Given the description of an element on the screen output the (x, y) to click on. 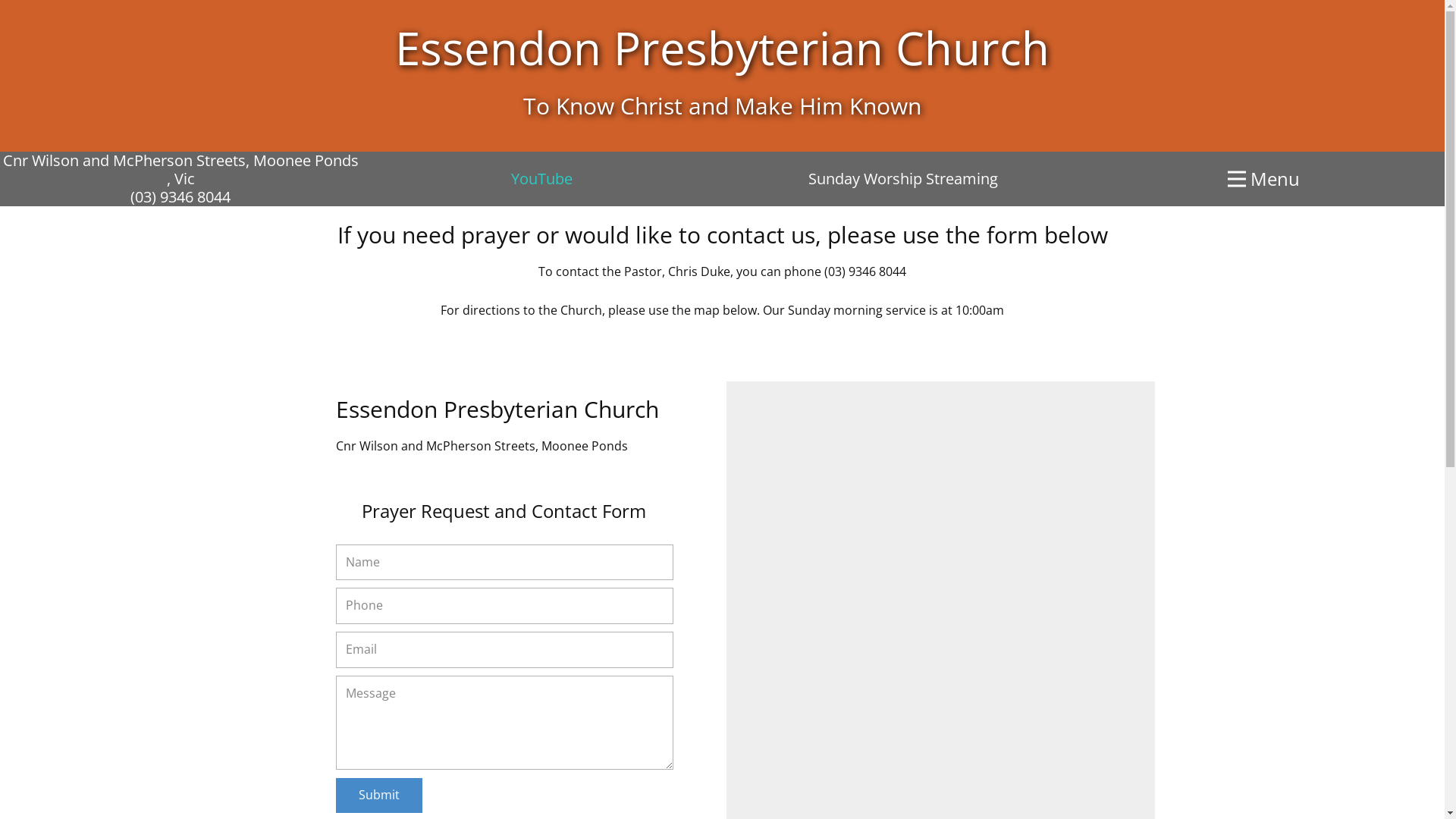
Submit Element type: text (378, 795)
YouTube Element type: text (541, 178)
Essendon Presbyterian Church Element type: text (722, 47)
Menu Element type: text (1263, 178)
Sunday Worship Streaming Element type: text (902, 178)
Cnr Wilson and McPherson Streets, Moonee Ponds Element type: text (180, 160)
